Given the description of an element on the screen output the (x, y) to click on. 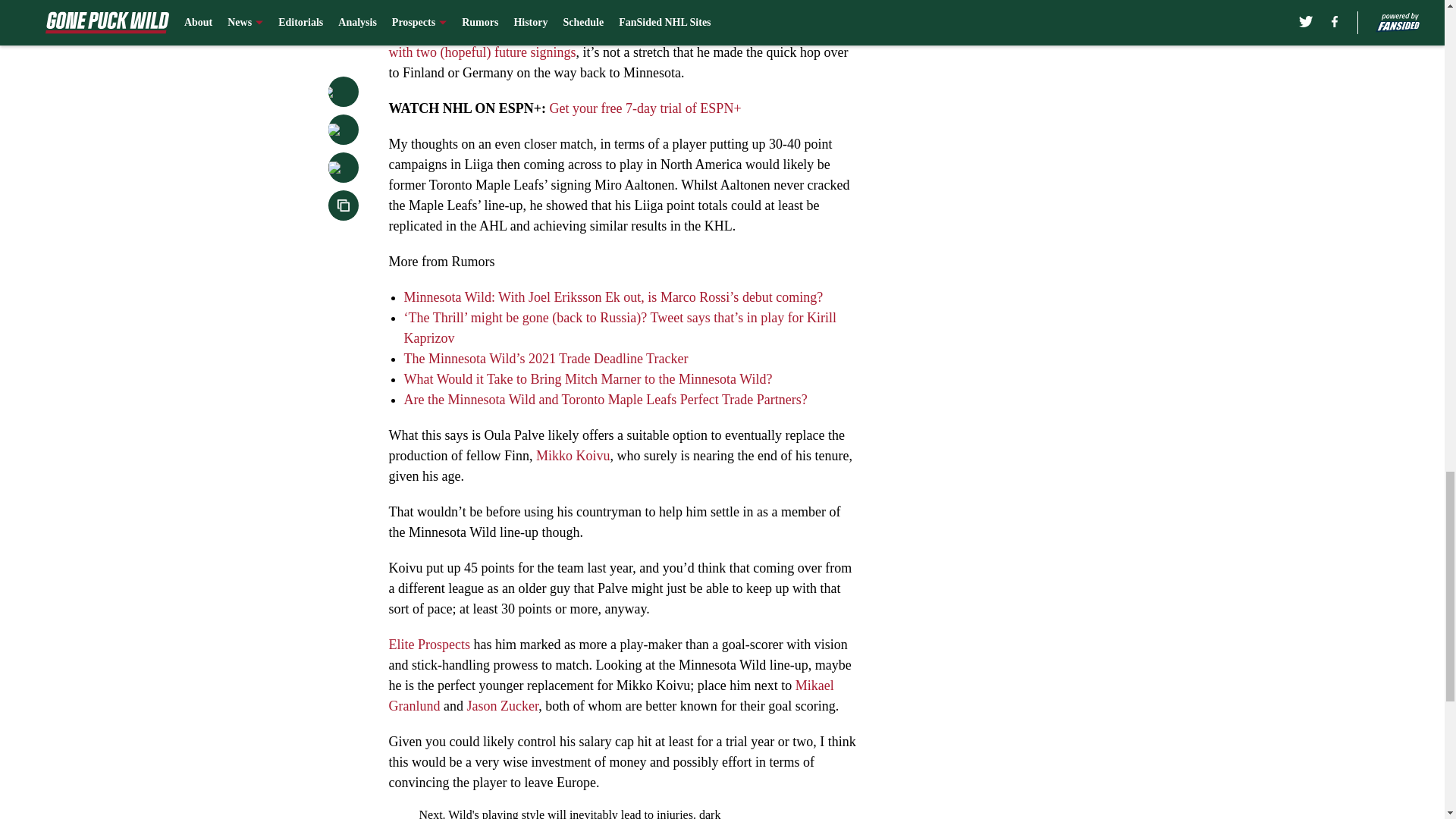
Jason Zucker (501, 705)
Elite Prospects (428, 644)
Mikko Koivu (572, 455)
Mikael Granlund (610, 695)
